Given the description of an element on the screen output the (x, y) to click on. 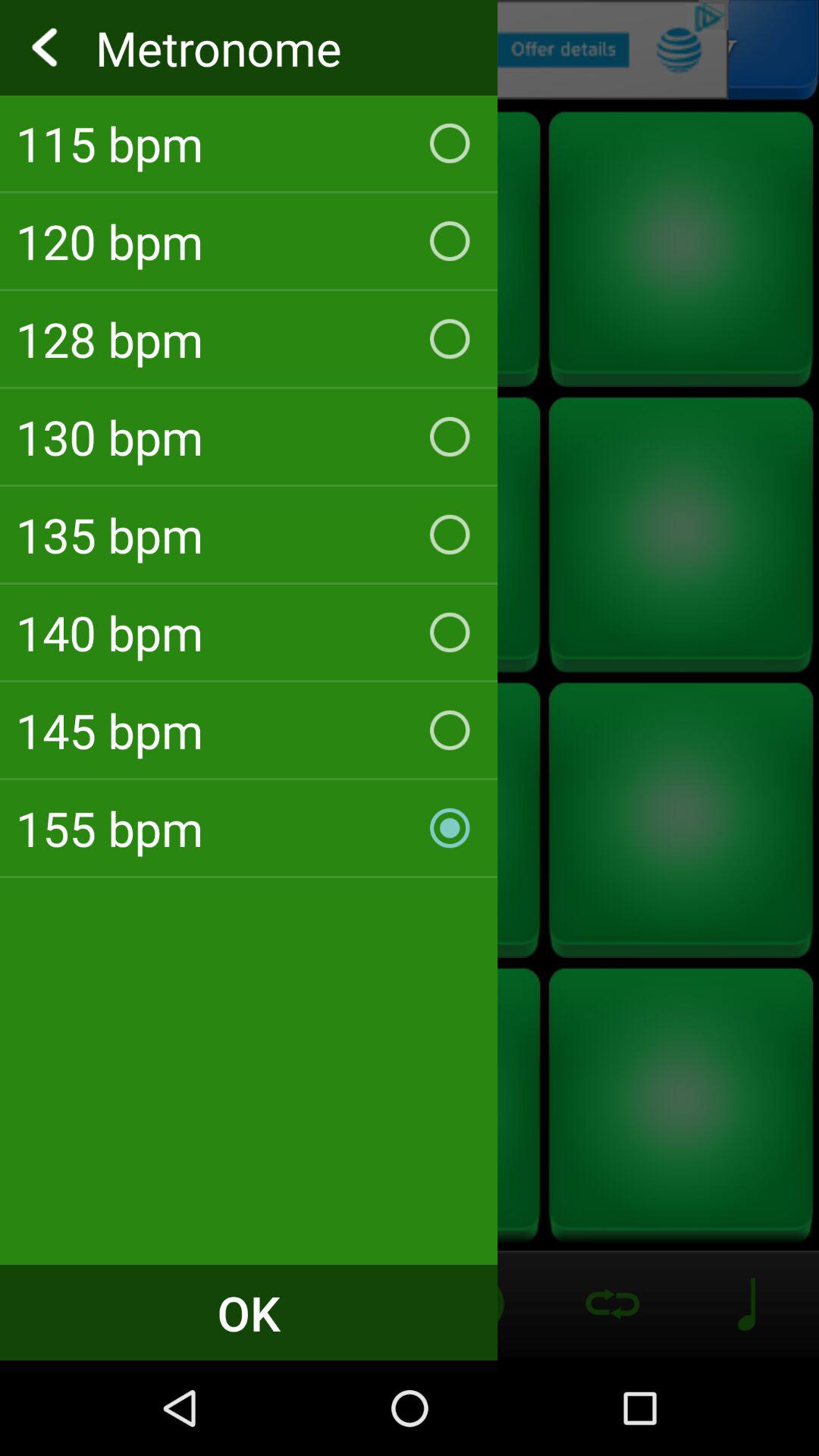
click the icon below 135 bpm icon (248, 632)
